Given the description of an element on the screen output the (x, y) to click on. 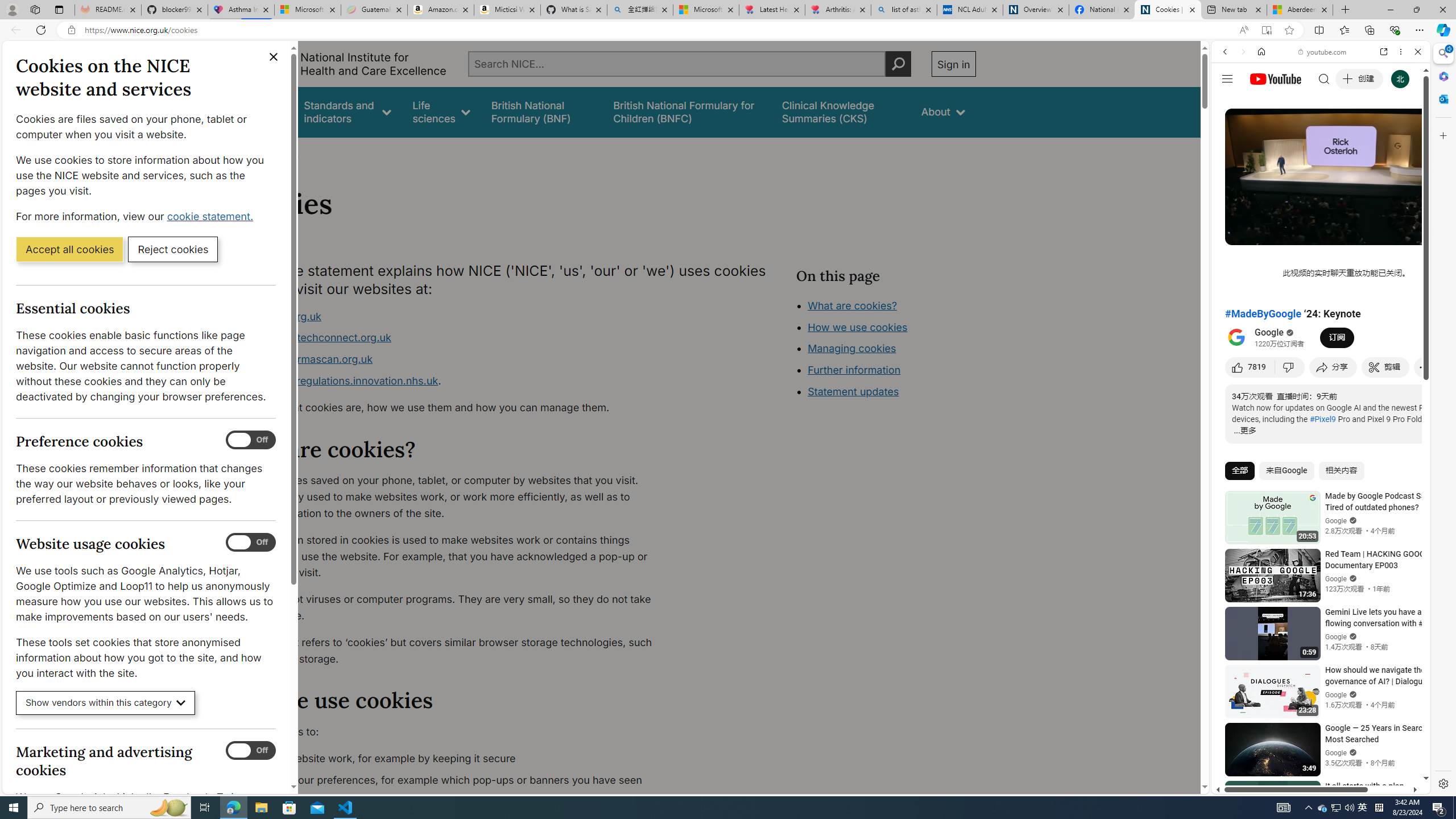
Open link in new tab (1383, 51)
Web scope (1230, 102)
British National Formulary for Children (BNFC) (686, 111)
US[ju] (1249, 785)
Enter Immersive Reader (F9) (1266, 29)
Search Filter, WEB (1230, 129)
YouTube (1315, 655)
Music (1320, 309)
www.healthtechconnect.org.uk (452, 338)
www.healthtechconnect.org.uk (314, 337)
